Given the description of an element on the screen output the (x, y) to click on. 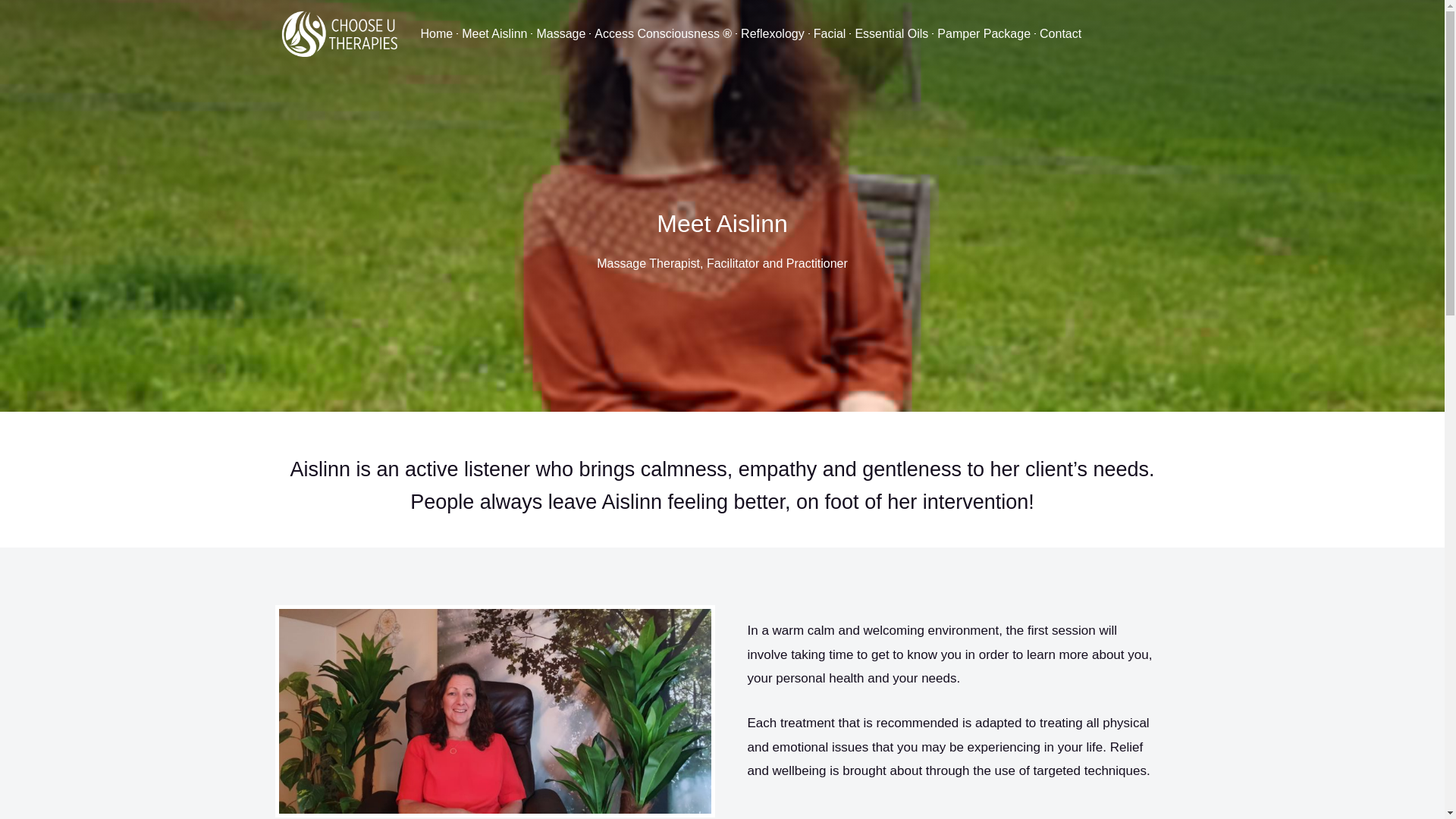
Pamper Package (983, 33)
Meet Aislinn (494, 33)
Contact (1059, 33)
Reflexology (772, 33)
Home (436, 33)
About 1 (494, 710)
Essential Oils (890, 33)
Facial (829, 33)
Massage (560, 33)
